Given the description of an element on the screen output the (x, y) to click on. 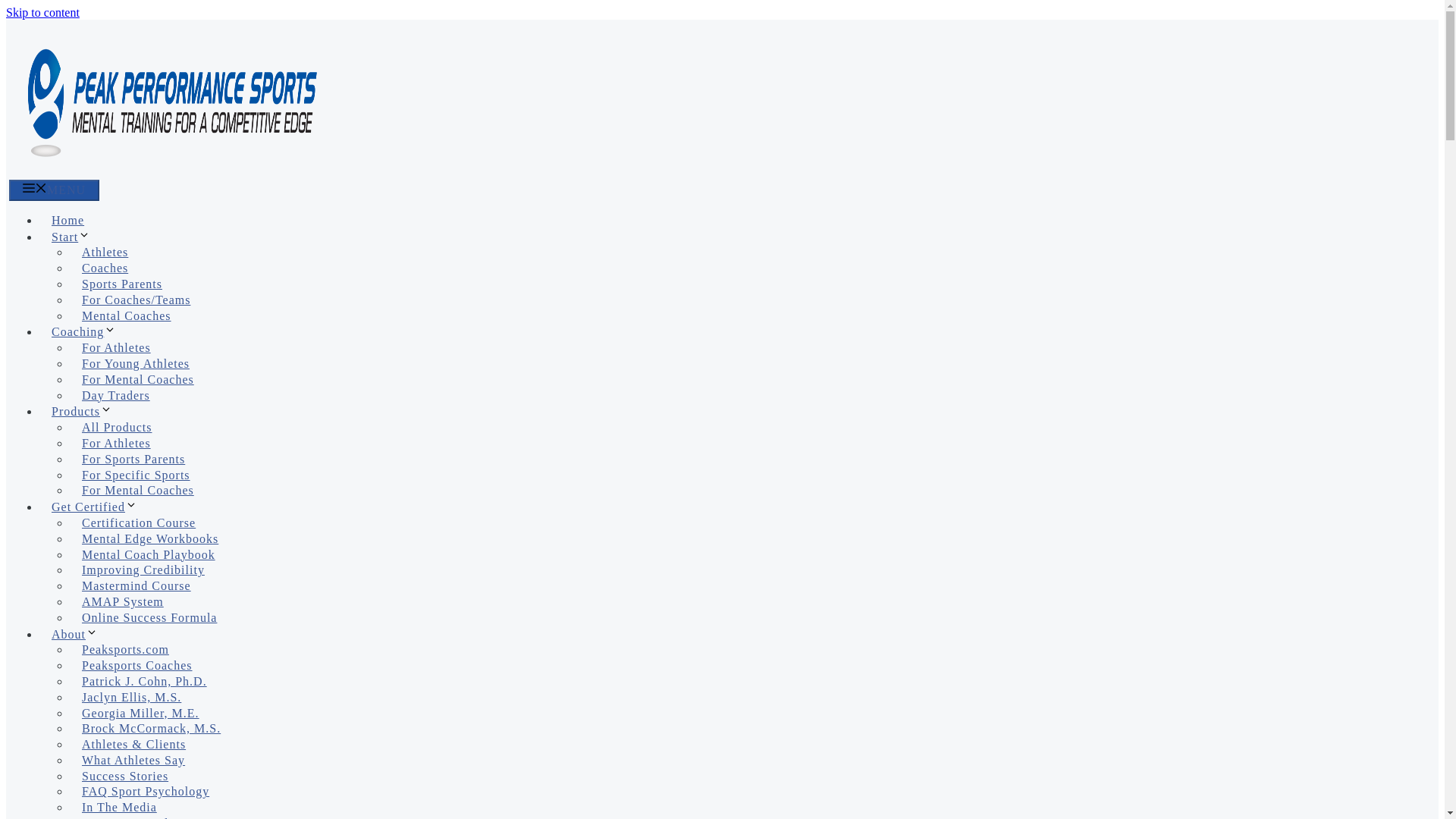
MENU (53, 189)
Skip to content (42, 11)
For Sports Parents (132, 459)
About (80, 634)
What Athletes Say (132, 759)
Mental Coach Playbook (148, 554)
Jaclyn Ellis, M.S. (131, 696)
Improving Credibility (142, 569)
Mental Coaches (126, 315)
Patrick J. Cohn, Ph.D. (144, 680)
Georgia Miller, M.E. (140, 712)
For Specific Sports (135, 474)
Get Certified (100, 506)
FAQ Sport Psychology (145, 790)
Coaching (89, 331)
